Given the description of an element on the screen output the (x, y) to click on. 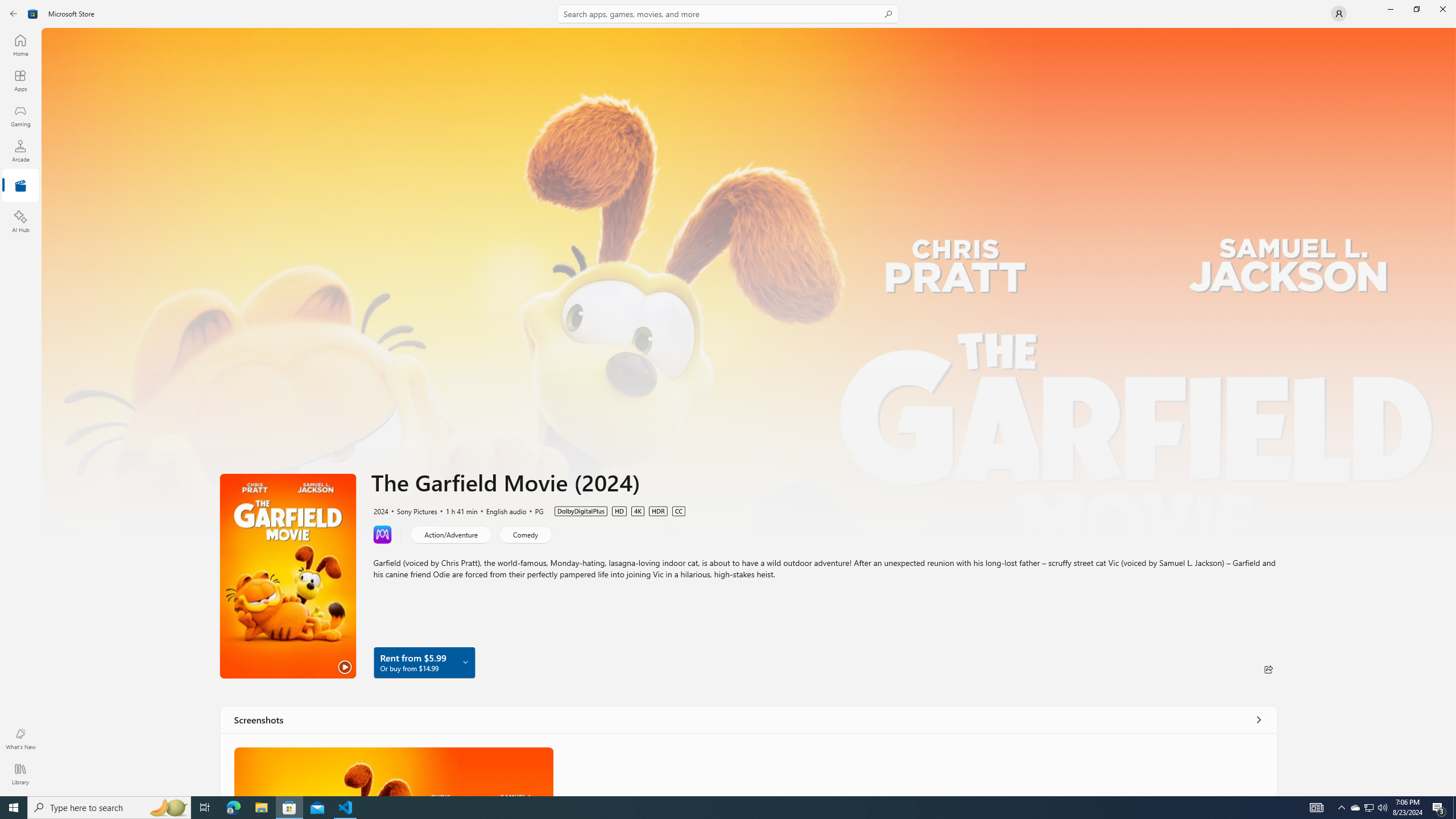
Home (20, 45)
Restore Microsoft Store (1416, 9)
What's New (20, 738)
Close Microsoft Store (1442, 9)
Share (1267, 669)
Sony Pictures (411, 510)
Action/Adventure (451, 533)
2024 (379, 510)
1 h 41 min (456, 510)
Rent from $5.99 Or buy from $14.99 (424, 662)
See all (1258, 719)
Learn more about Movies Anywhere (381, 533)
Search (727, 13)
Entertainment (20, 185)
User profile (1338, 13)
